Given the description of an element on the screen output the (x, y) to click on. 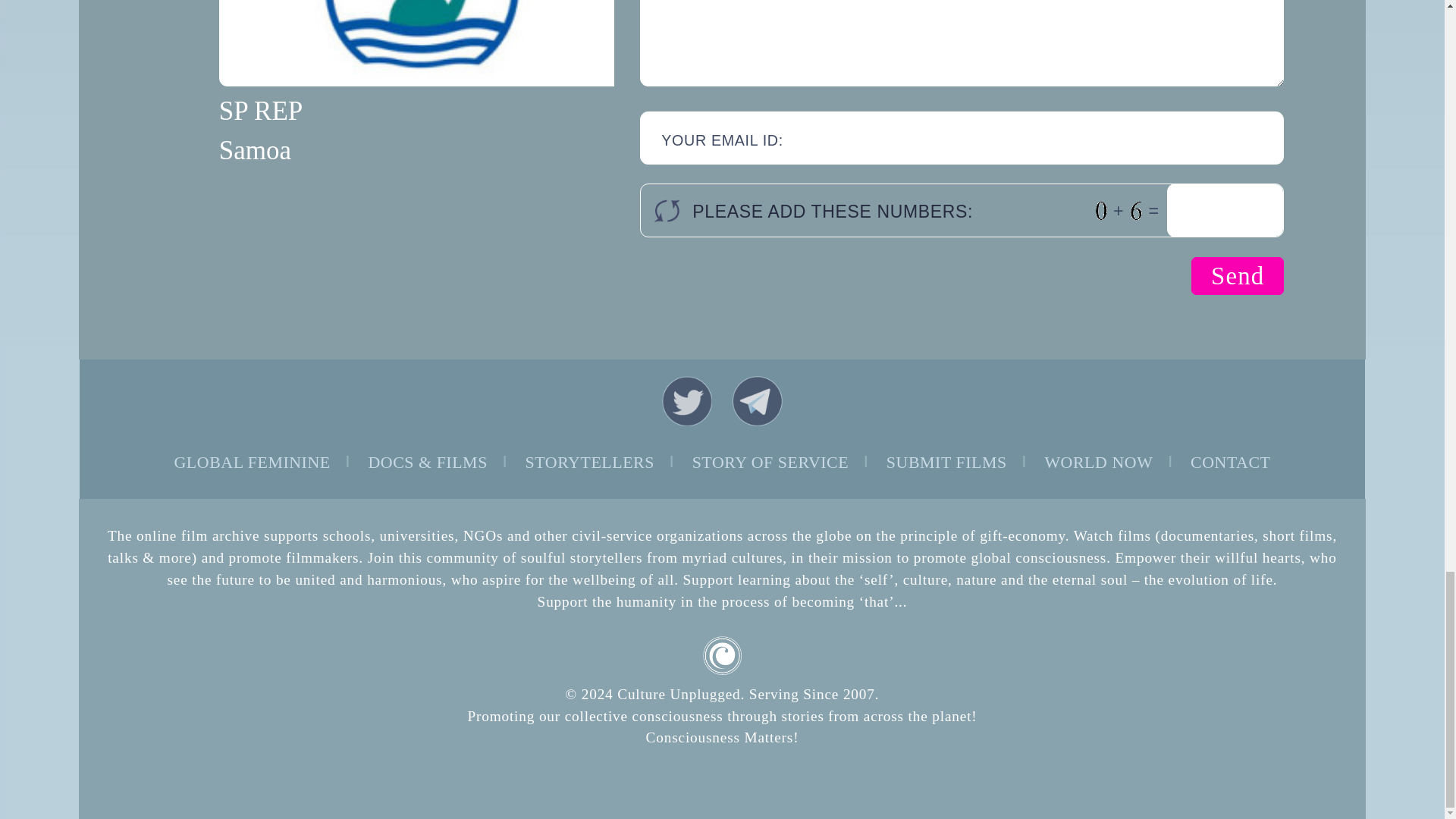
Refresh Captcha (666, 210)
Send (1237, 275)
